Given the description of an element on the screen output the (x, y) to click on. 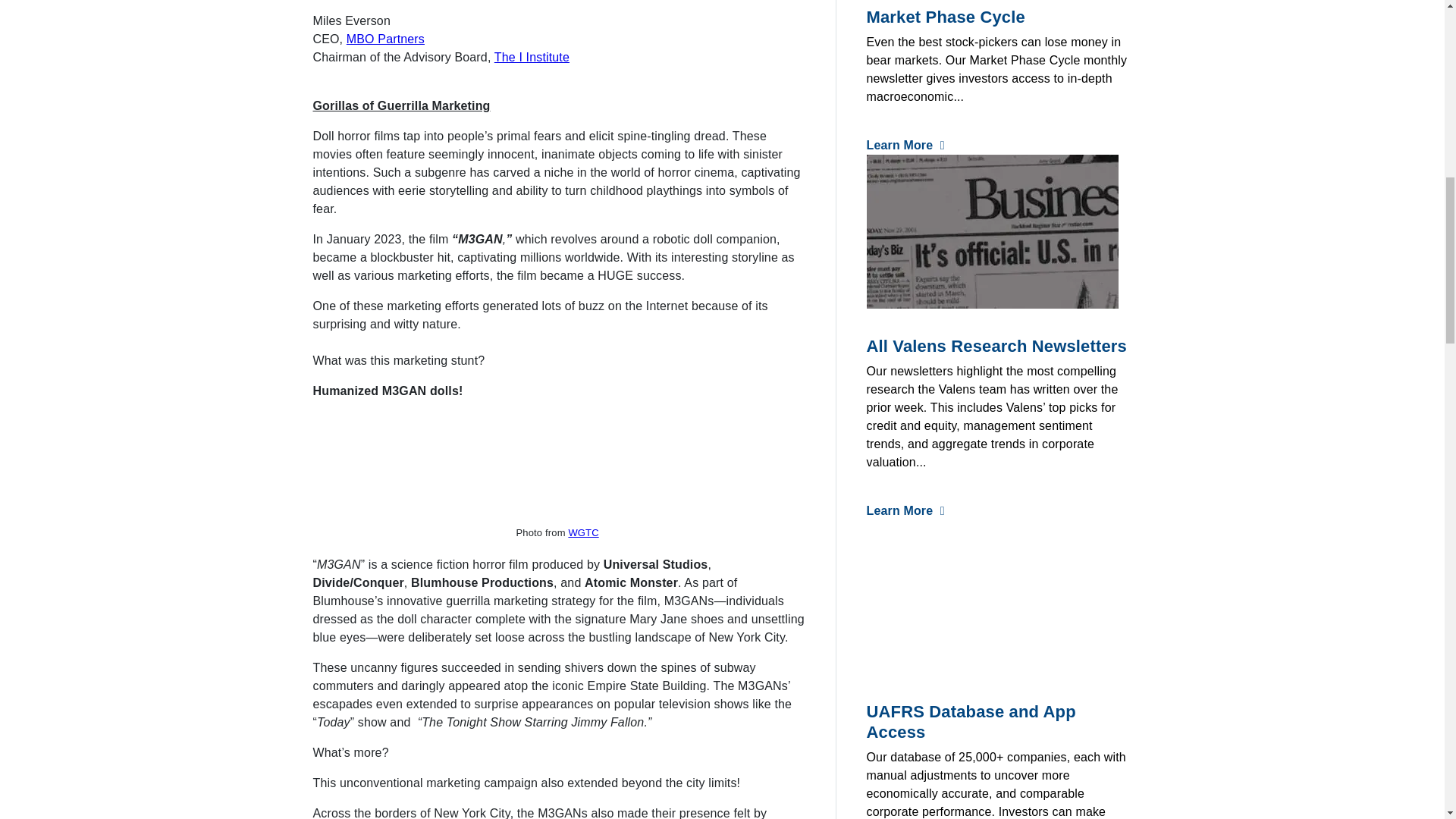
The I Institute (532, 56)
MBO Partners (385, 38)
WGTC (582, 532)
